Given the description of an element on the screen output the (x, y) to click on. 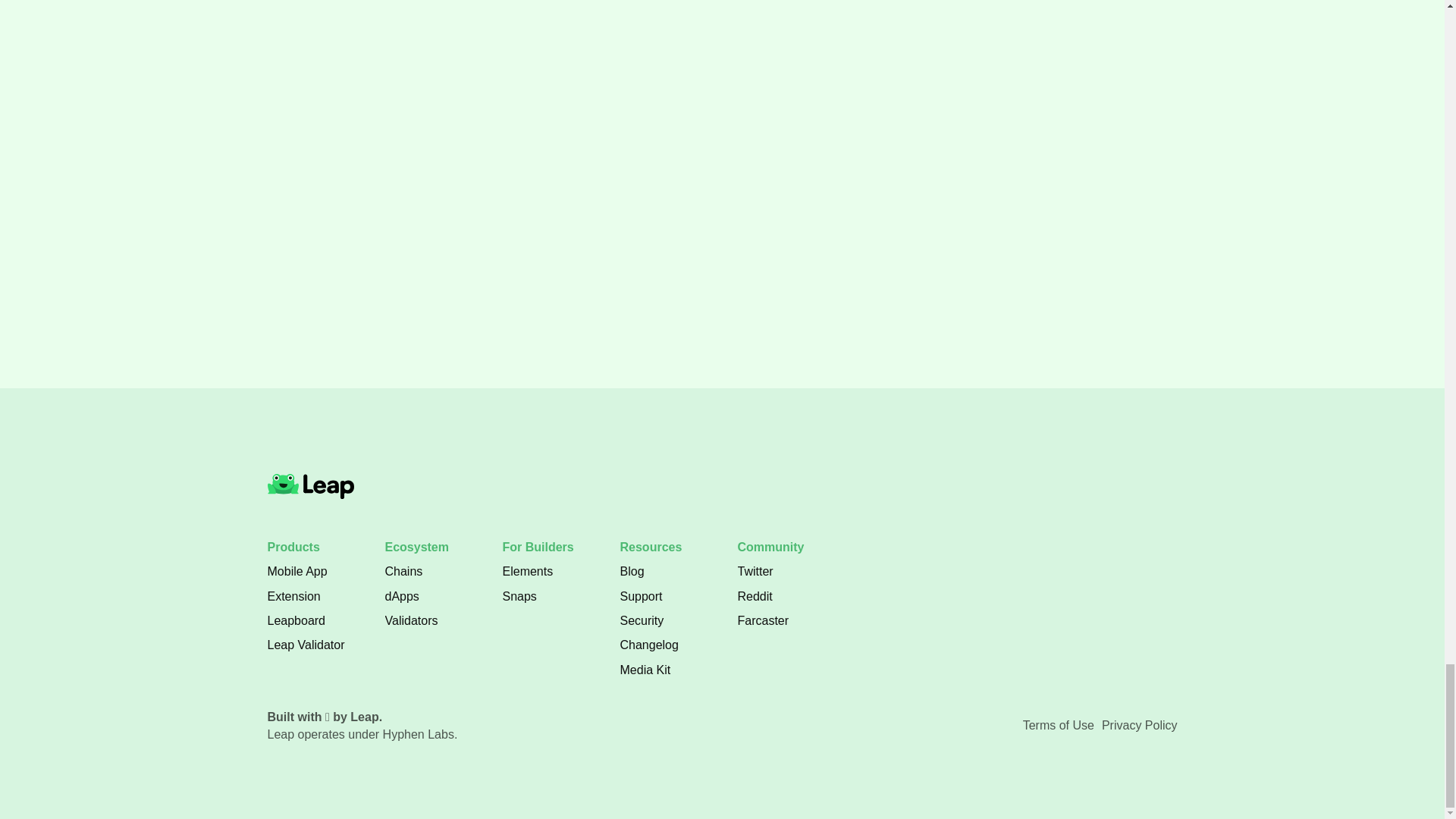
Support (722, 208)
Twitter (641, 595)
Media Kit (754, 571)
Terms of Use (645, 669)
Elements (1058, 725)
Extension (527, 571)
Leapboard (293, 595)
Chains (295, 620)
Leap Validator (404, 571)
Farcaster (476, 13)
Changelog (304, 644)
